Given the description of an element on the screen output the (x, y) to click on. 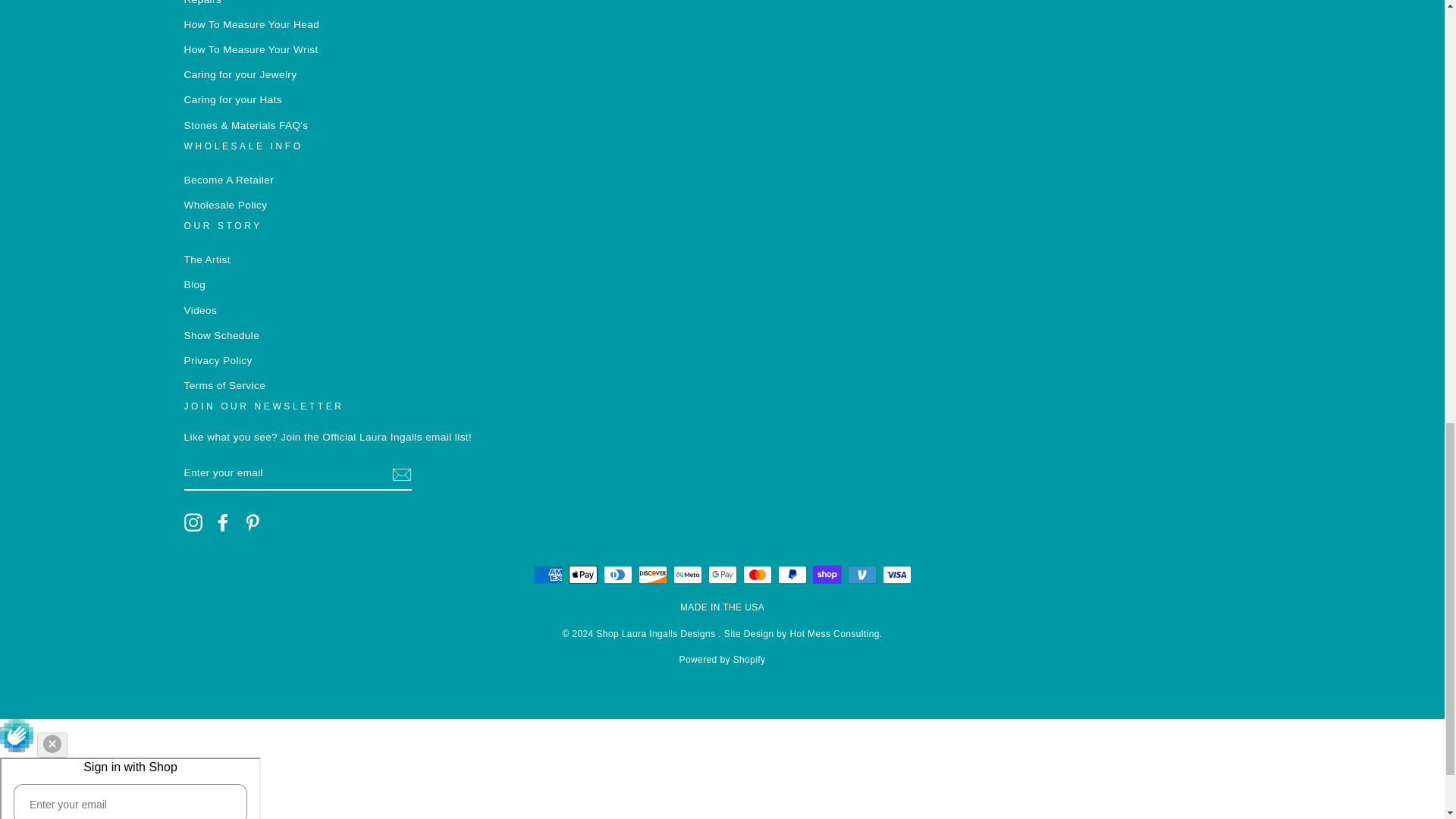
Meta Pay (686, 574)
Diners Club (617, 574)
Google Pay (721, 574)
Discover (652, 574)
American Express (548, 574)
Shop Laura Ingalls Designs on Instagram (192, 522)
Mastercard (756, 574)
Shop Pay (826, 574)
PayPal (791, 574)
Shop Laura Ingalls Designs on Pinterest (251, 522)
Shop Laura Ingalls Designs on Facebook (222, 522)
Apple Pay (582, 574)
Venmo (861, 574)
